Given the description of an element on the screen output the (x, y) to click on. 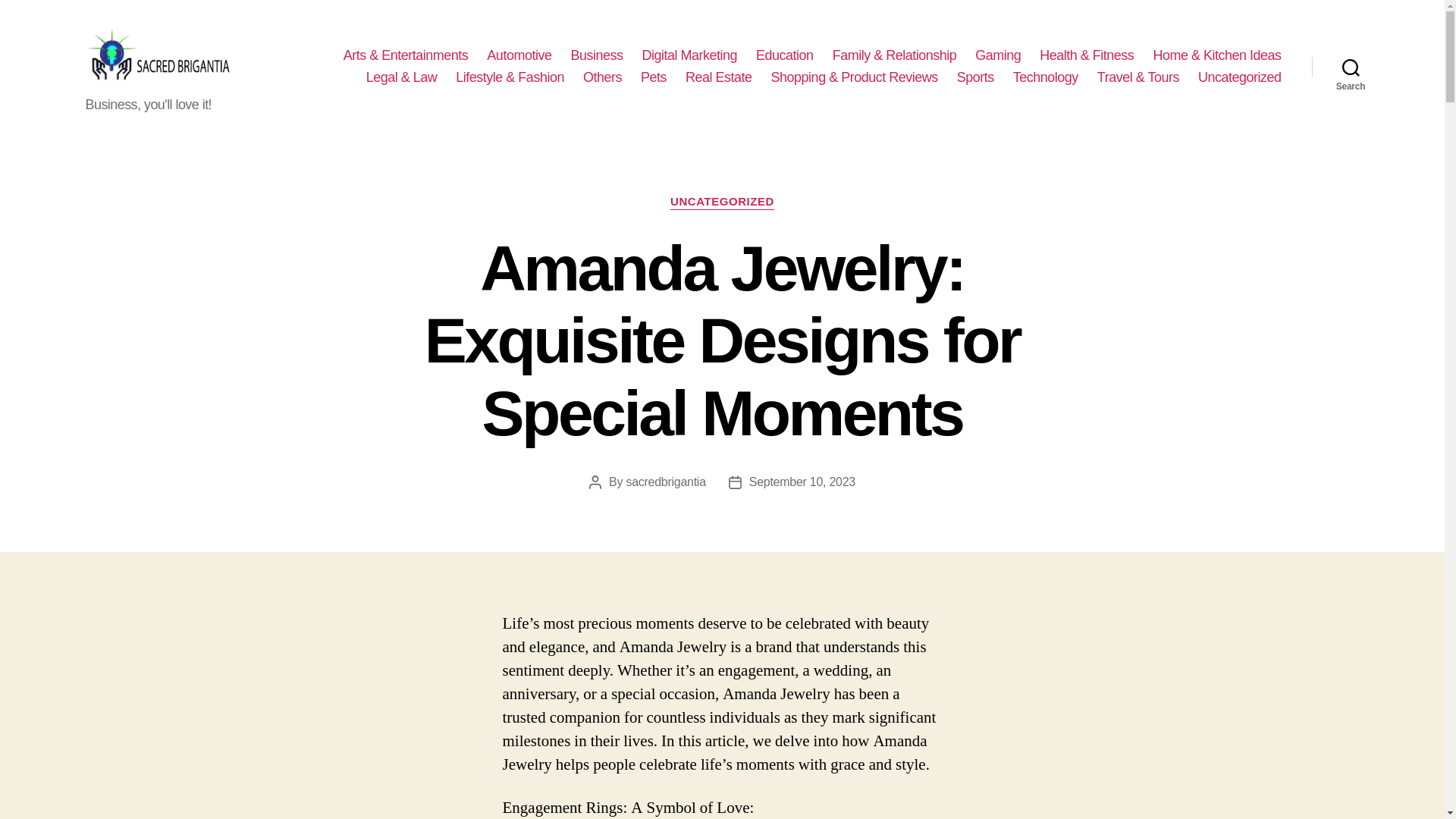
Others (602, 77)
Business (596, 55)
Search (1350, 66)
Gaming (997, 55)
Digital Marketing (689, 55)
Automotive (518, 55)
Real Estate (718, 77)
Education (784, 55)
Technology (1045, 77)
Pets (653, 77)
